Given the description of an element on the screen output the (x, y) to click on. 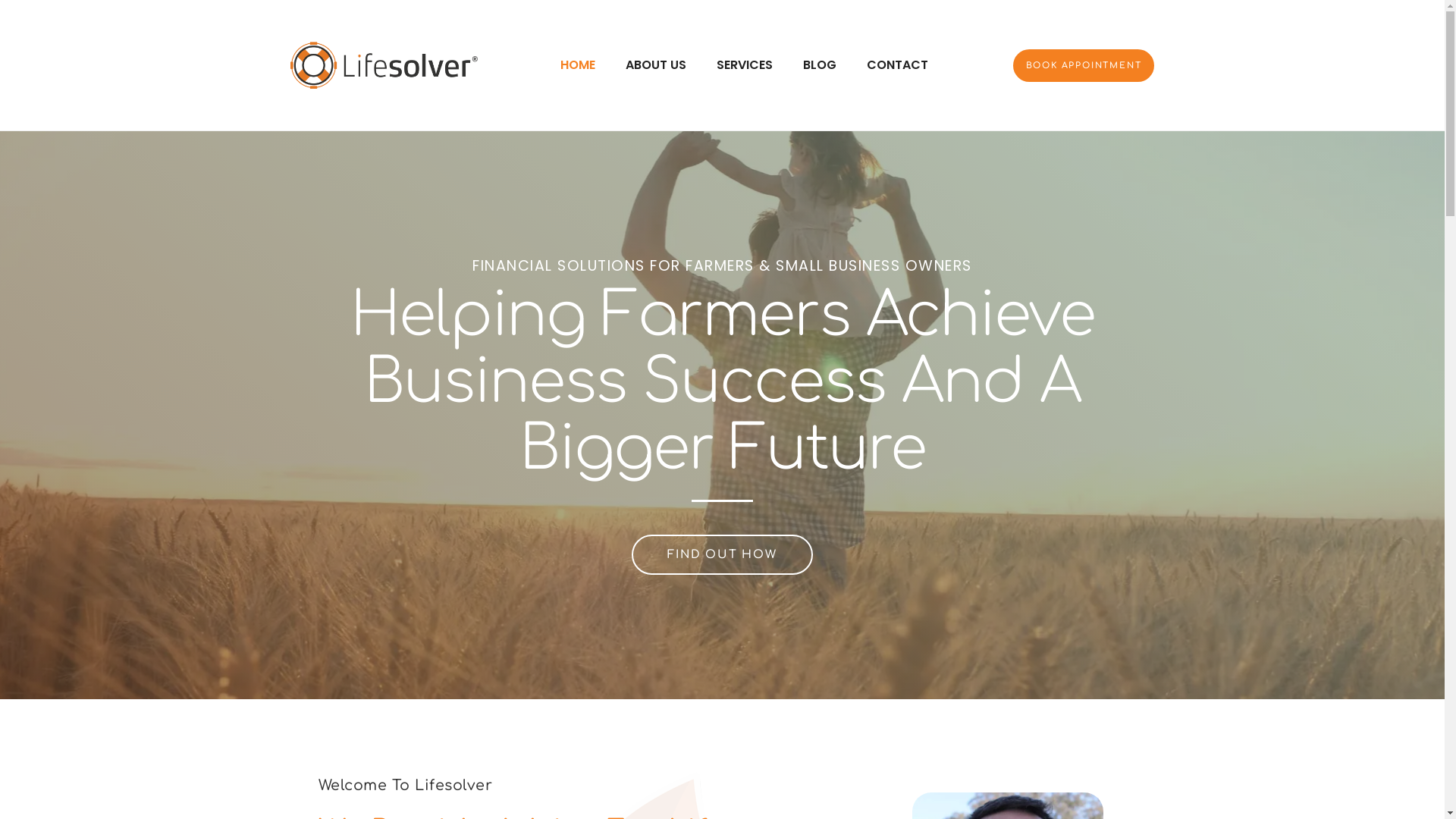
FIND OUT HOW Element type: text (721, 554)
CONTACT Element type: text (896, 65)
SERVICES Element type: text (743, 65)
BLOG Element type: text (818, 65)
BOOK APPOINTMENT Element type: text (1083, 64)
ABOUT US Element type: text (654, 65)
HOME Element type: text (576, 65)
